Given the description of an element on the screen output the (x, y) to click on. 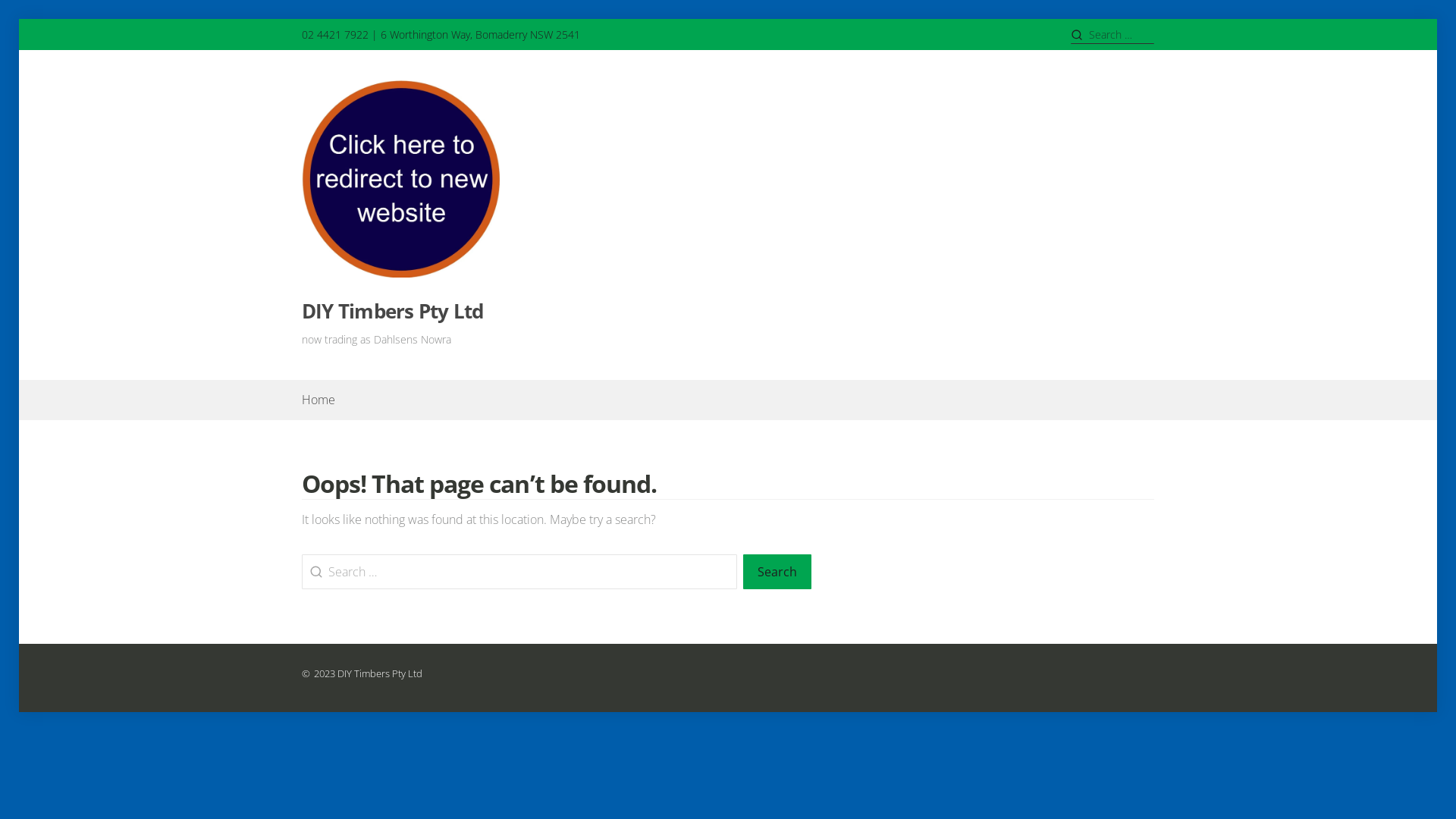
DIY Timbers Pty Ltd Element type: text (392, 311)
Skip to content Element type: text (18, 18)
Home Element type: text (318, 399)
Search Element type: text (777, 571)
